Given the description of an element on the screen output the (x, y) to click on. 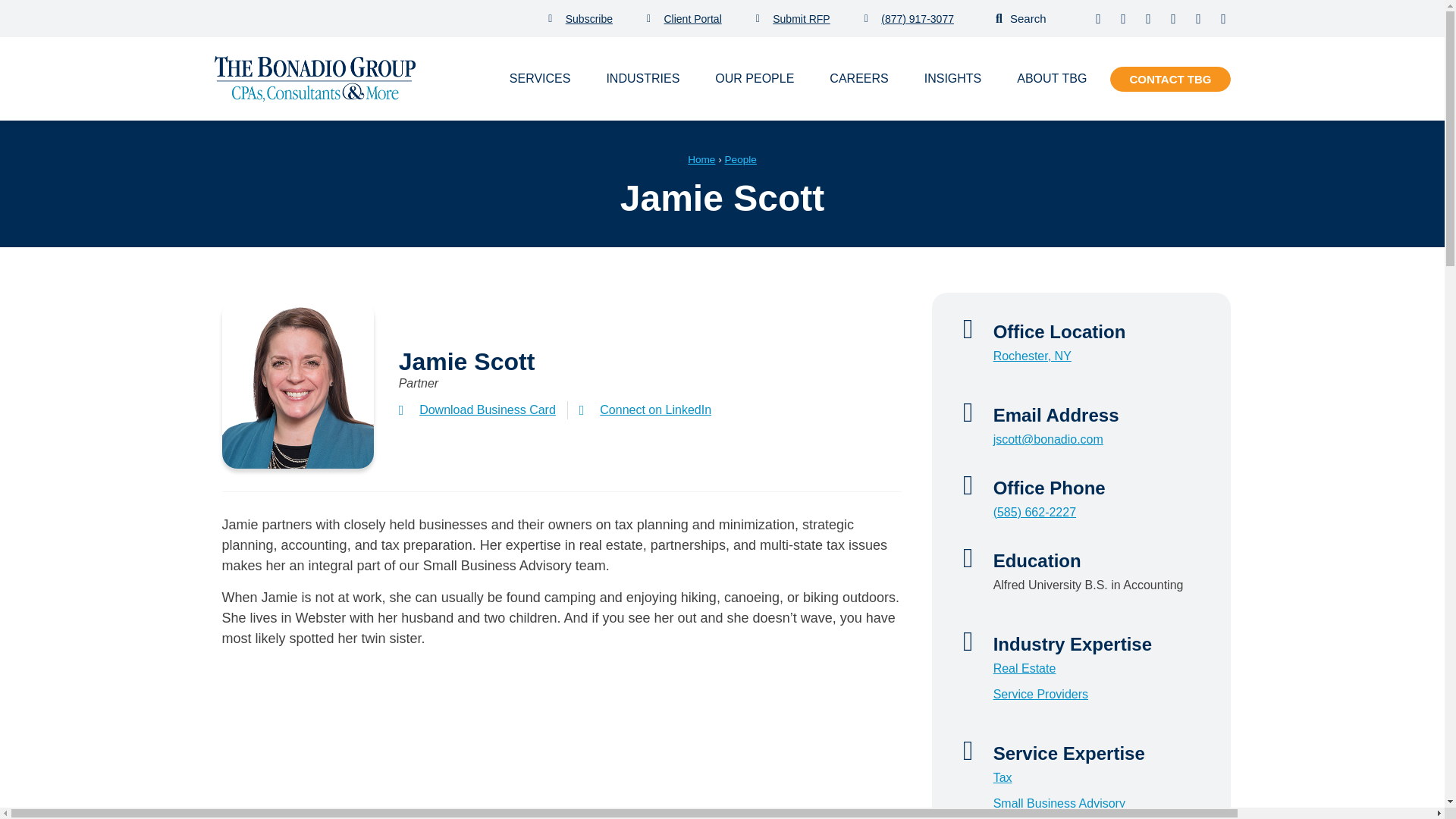
Subscribe (580, 18)
SERVICES (539, 78)
INDUSTRIES (642, 78)
Submit RFP (792, 18)
Client Portal (684, 18)
